Given the description of an element on the screen output the (x, y) to click on. 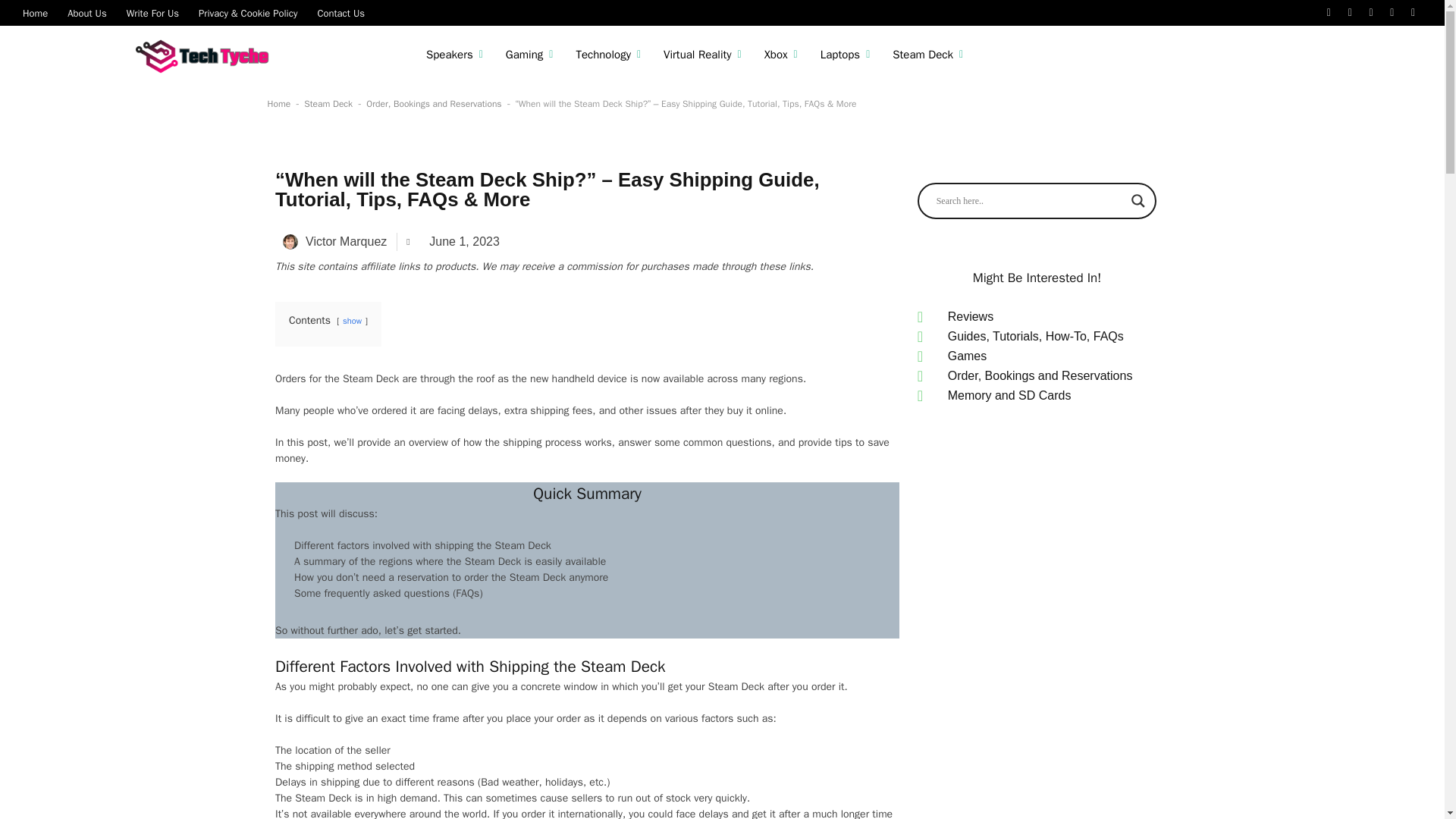
Speakers (454, 54)
Home (35, 12)
Gaming (529, 54)
Write For Us (152, 12)
Contact Us (340, 12)
About Us (87, 12)
Techtyche (205, 54)
